Given the description of an element on the screen output the (x, y) to click on. 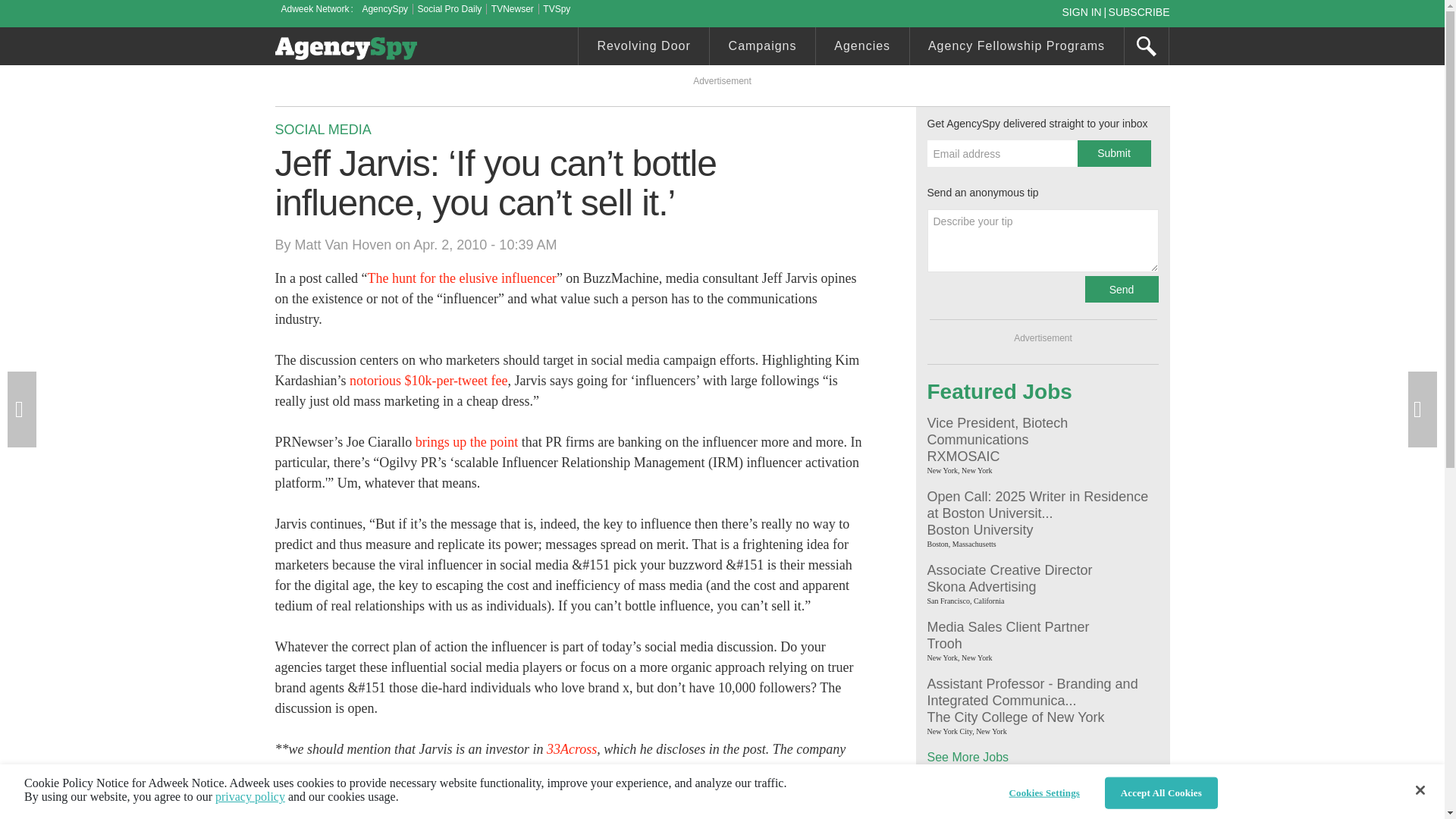
TVSpy (556, 9)
Send (1120, 289)
Covering the ad agency world (345, 47)
Agency Fellowship Programs (1017, 48)
Submit (1113, 153)
AgencySpy (384, 9)
SUBSCRIBE (1139, 11)
Campaigns (762, 48)
TVNewser (513, 9)
SIGN IN (1084, 11)
Adweek Network (316, 9)
Revolving Door (643, 48)
Social Pro Daily (449, 9)
Agencies (861, 48)
